Given the description of an element on the screen output the (x, y) to click on. 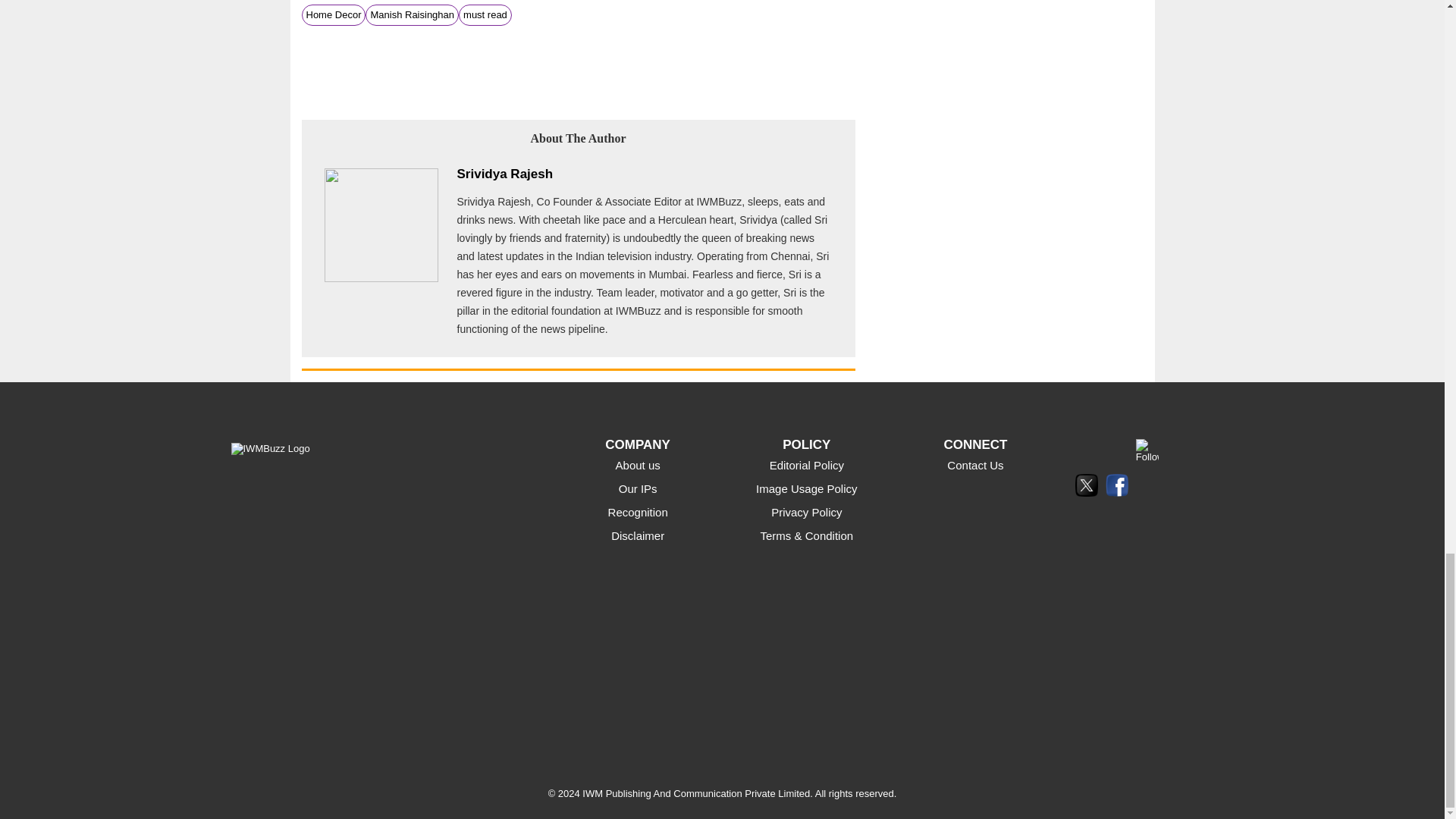
Srividya Rajesh (505, 173)
Home Decor (333, 14)
Manish Raisinghan (411, 14)
must read (484, 14)
